Given the description of an element on the screen output the (x, y) to click on. 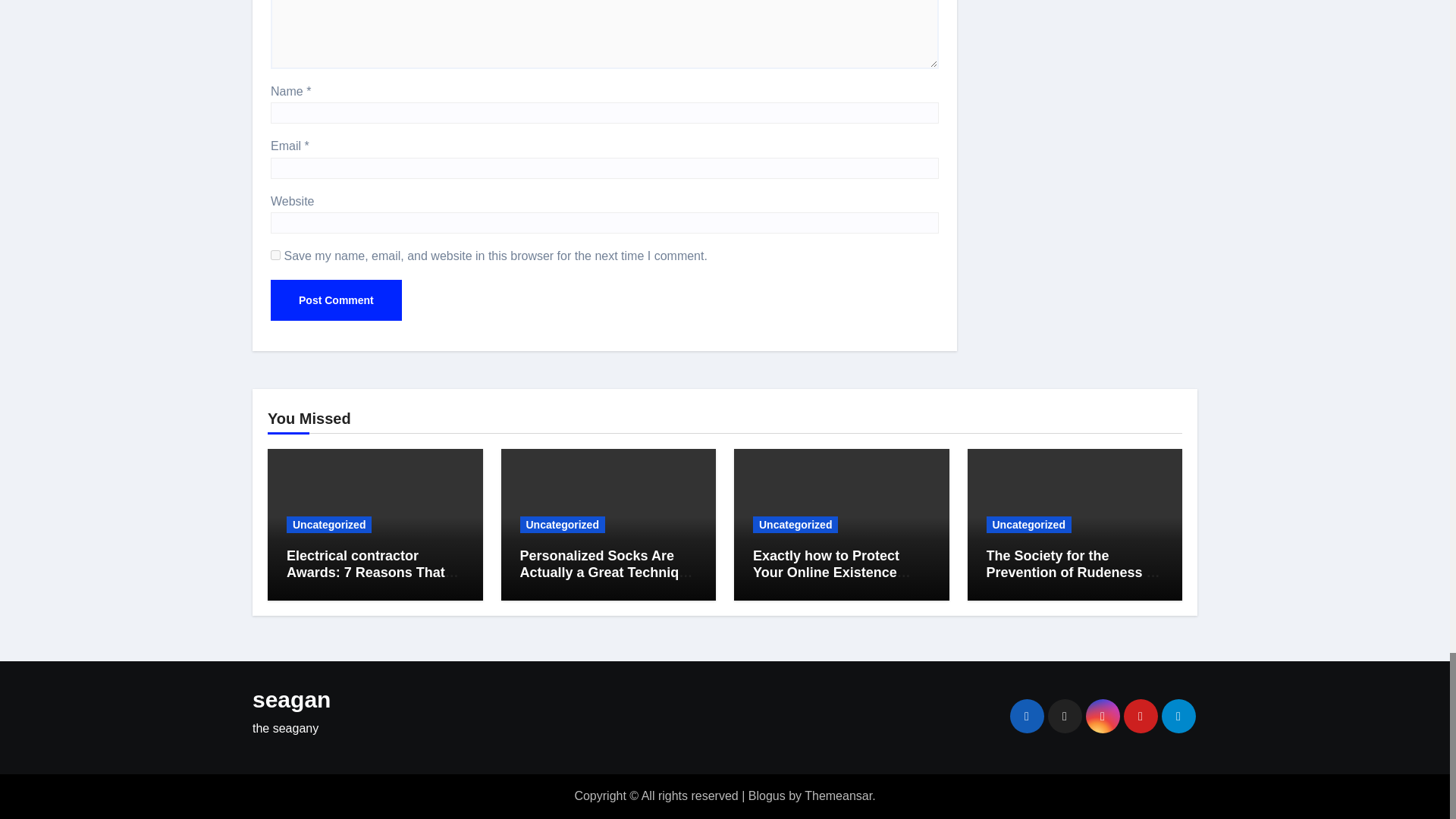
Post Comment (335, 300)
yes (275, 255)
